Given the description of an element on the screen output the (x, y) to click on. 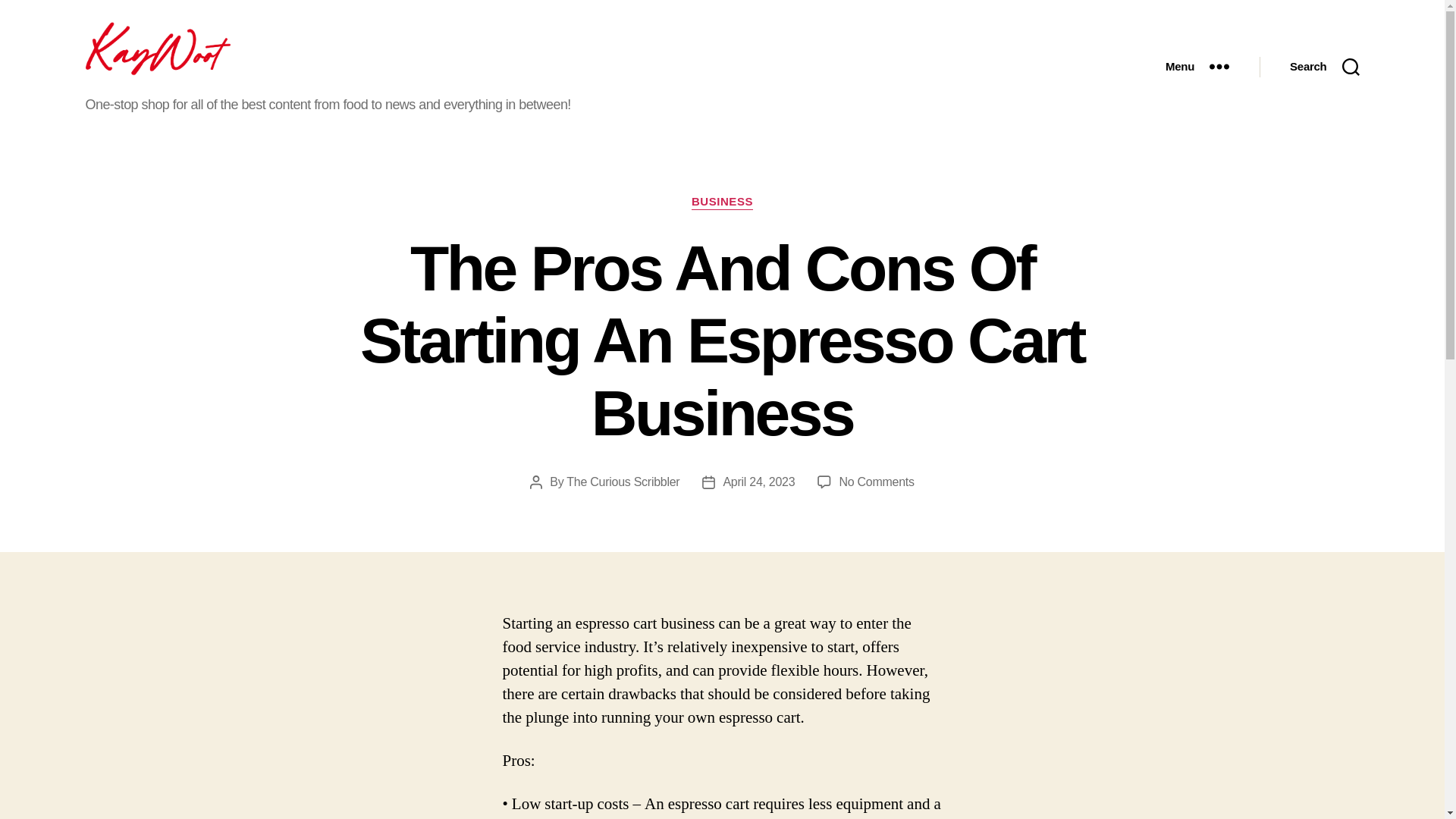
Search (1324, 66)
Menu (1197, 66)
